Given the description of an element on the screen output the (x, y) to click on. 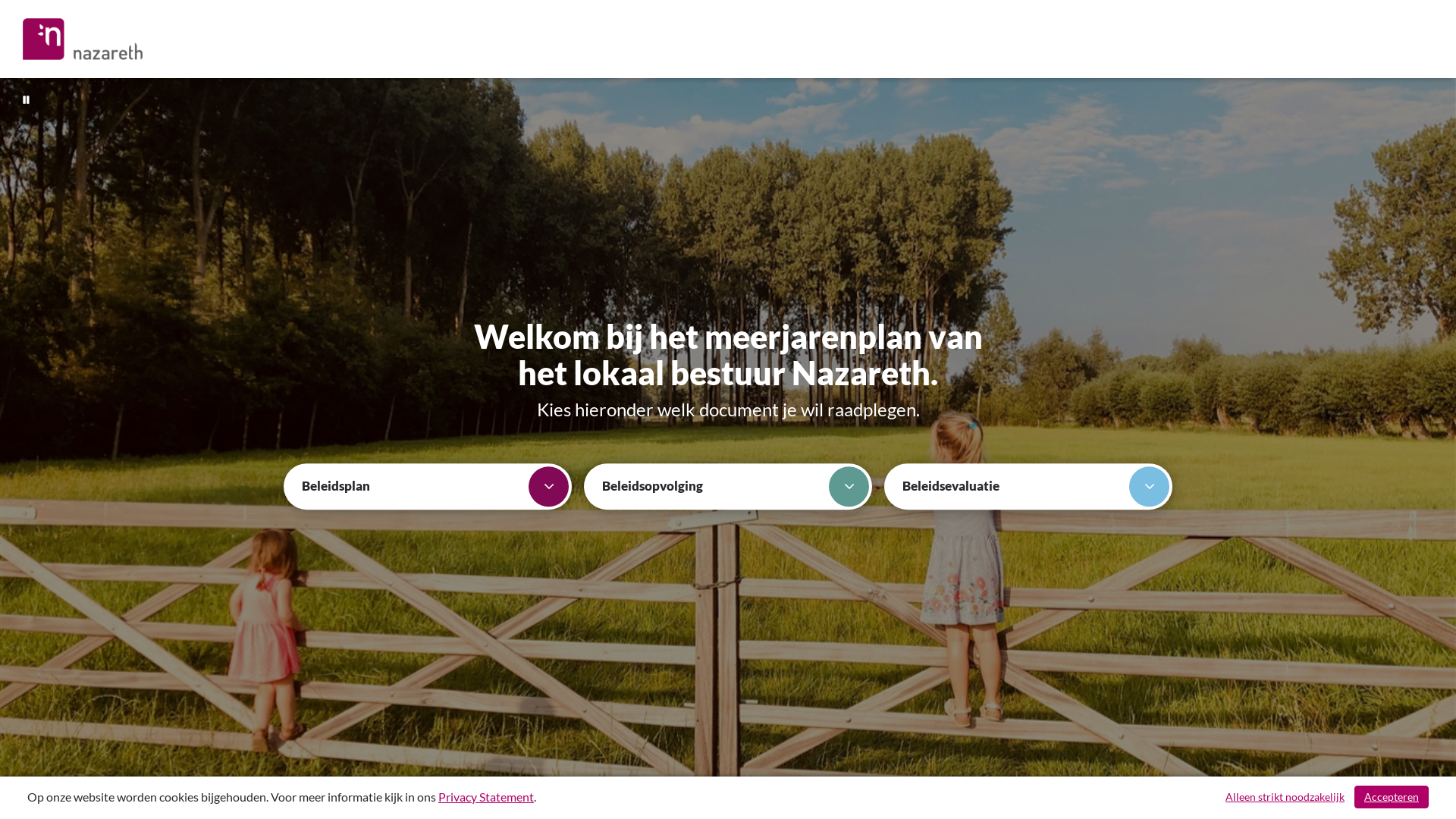
Beleidsplan Element type: text (427, 486)
Privacy Statement Element type: text (485, 796)
Alleen strikt noodzakelijk Element type: text (1284, 796)
Beleidsopvolging Element type: text (727, 486)
Accepteren Element type: text (1391, 796)
Beleidsevaluatie Element type: text (1028, 486)
